Given the description of an element on the screen output the (x, y) to click on. 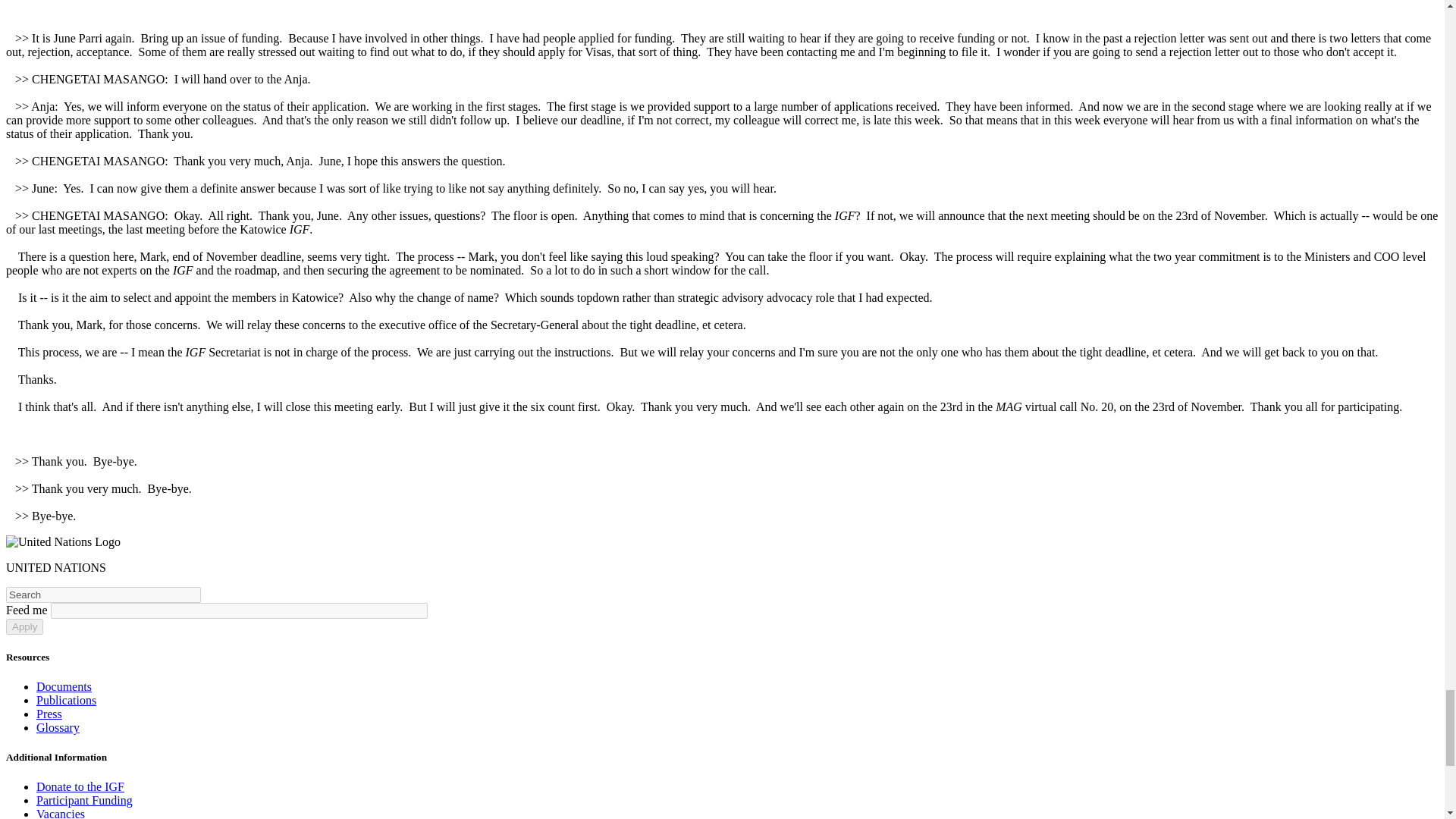
Apply (24, 626)
Search (102, 594)
